Given the description of an element on the screen output the (x, y) to click on. 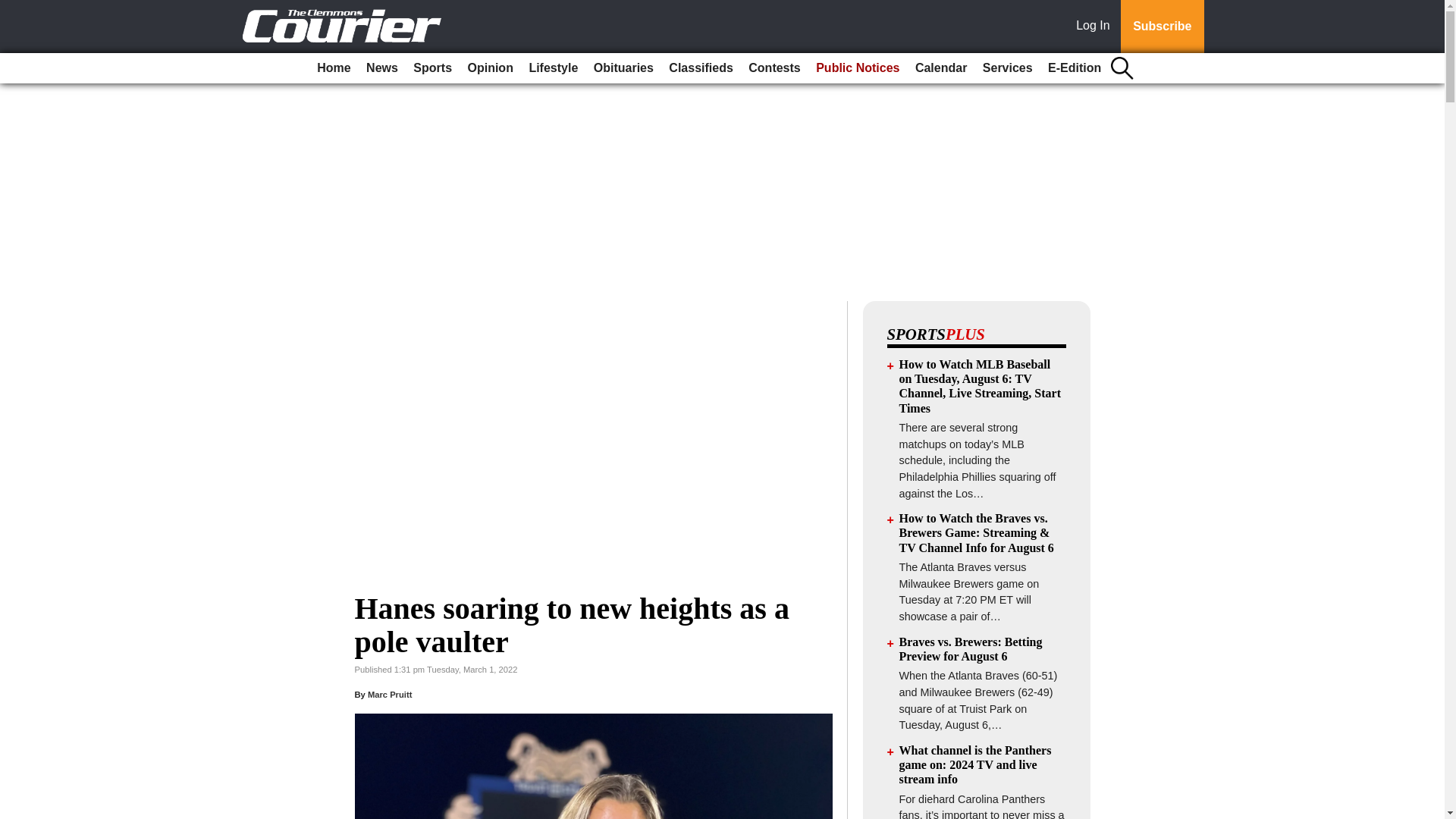
Braves vs. Brewers: Betting Preview for August 6 (970, 648)
Classifieds (700, 68)
Log In (1095, 26)
Public Notices (857, 68)
Obituaries (623, 68)
Marc Pruitt (390, 694)
E-Edition (1074, 68)
Calendar (940, 68)
Opinion (489, 68)
Sports (432, 68)
News (381, 68)
Contests (774, 68)
Home (333, 68)
